Given the description of an element on the screen output the (x, y) to click on. 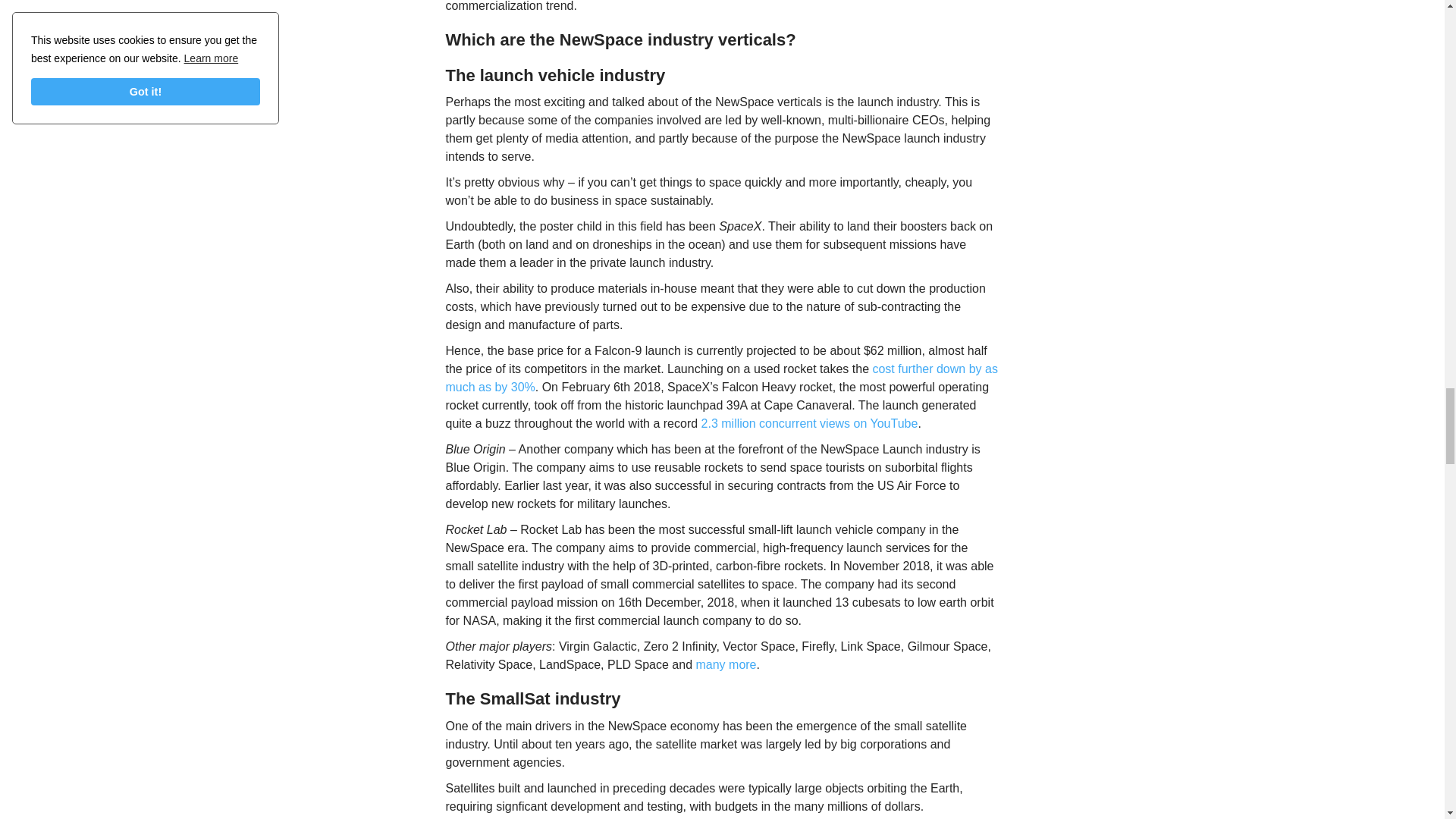
Small Satellite Launchers (725, 664)
